Given the description of an element on the screen output the (x, y) to click on. 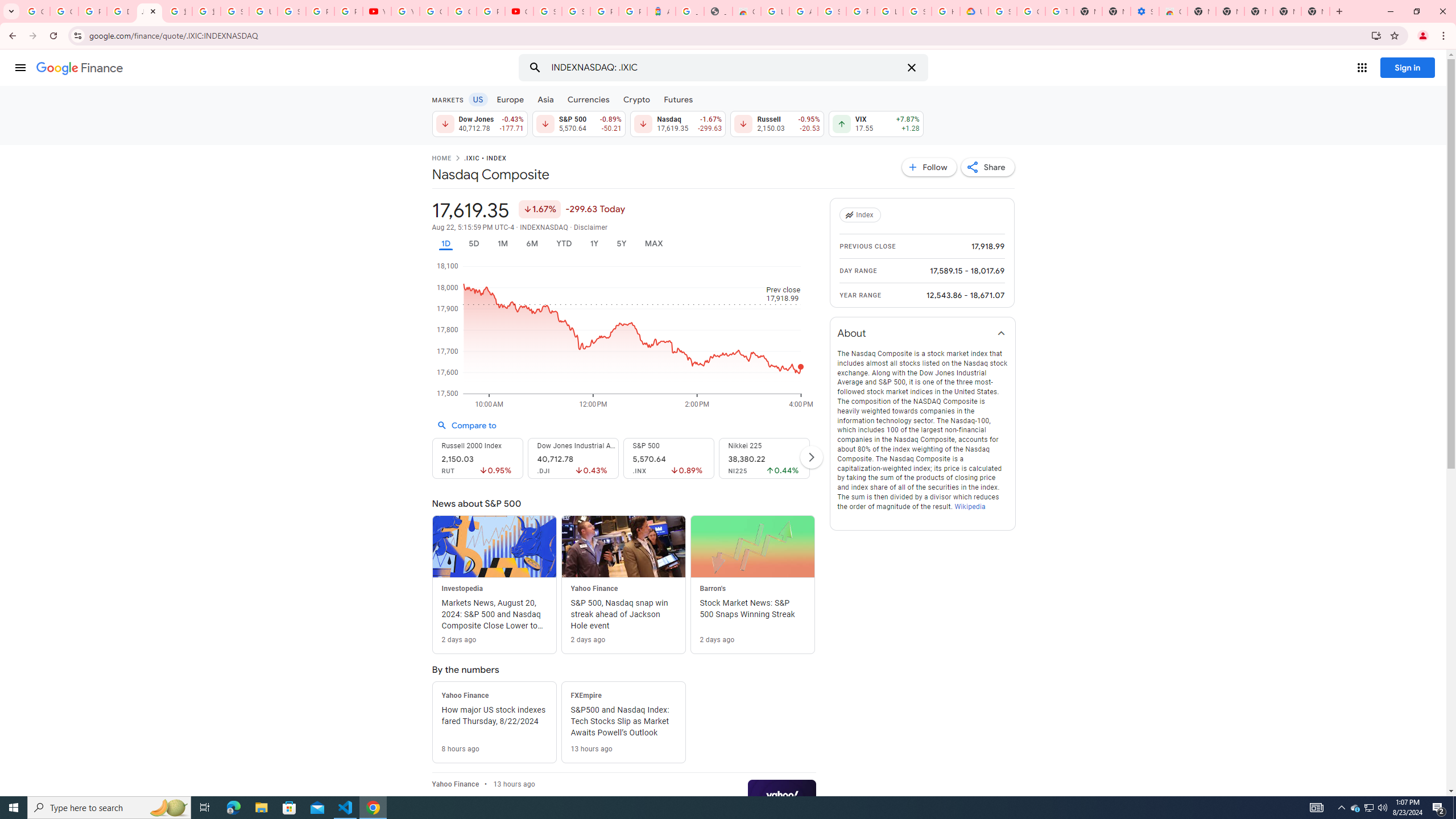
US (477, 99)
Sign in - Google Accounts (917, 11)
Atour Hotel - Google hotels (661, 11)
1M (501, 243)
Europe (510, 99)
Crypto (636, 99)
New Tab (1201, 11)
Dow Jones 40,712.78 Down by 0.43% -177.71 (478, 123)
